Given the description of an element on the screen output the (x, y) to click on. 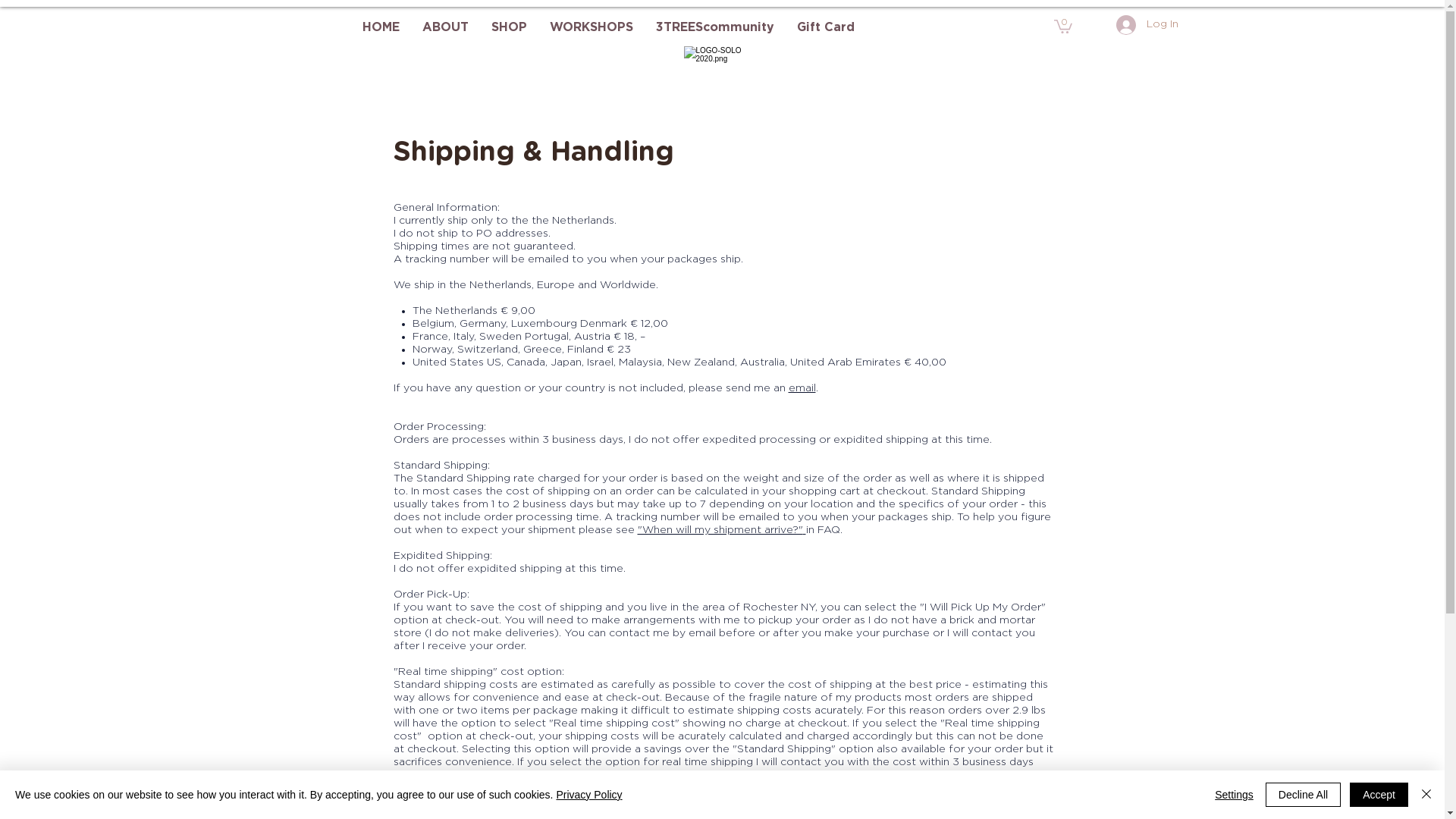
Privacy Policy Element type: text (588, 794)
3TREEScommunity Element type: text (714, 27)
Log In Element type: text (1147, 24)
SHOP Element type: text (508, 27)
Gift Card Element type: text (825, 27)
  Element type: text (803, 529)
Decline All Element type: text (1302, 794)
ABOUT Element type: text (445, 27)
0 Element type: text (1063, 25)
email Element type: text (801, 387)
Accept Element type: text (1378, 794)
WORKSHOPS Element type: text (591, 27)
"When will my shipment arrive?" Element type: text (719, 529)
HOME Element type: text (380, 27)
